Given the description of an element on the screen output the (x, y) to click on. 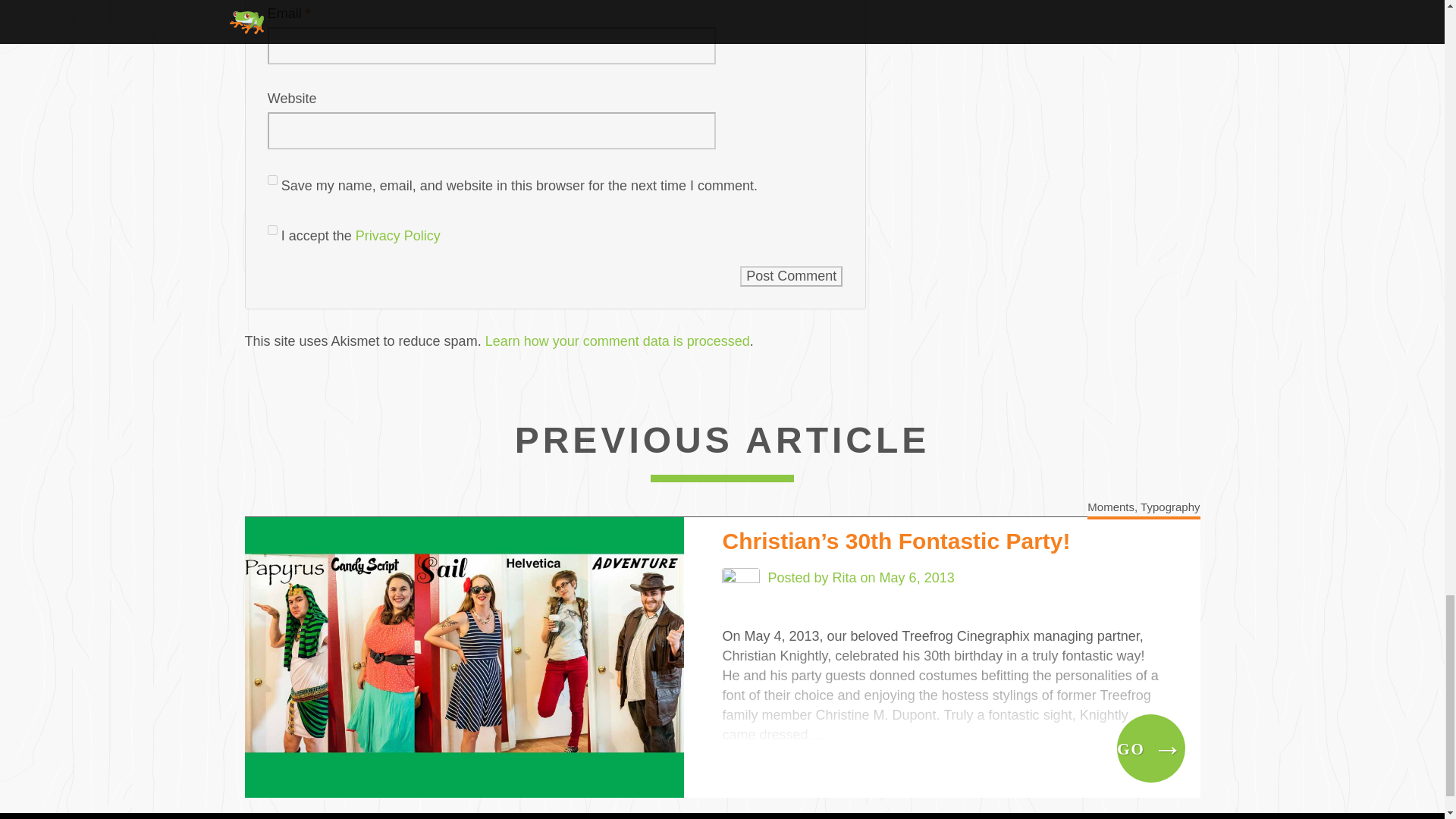
Post Comment (791, 275)
Learn how your comment data is processed (616, 340)
Privacy Policy (398, 234)
Typography (1169, 506)
Post Comment (791, 275)
Moments (1110, 506)
